Given the description of an element on the screen output the (x, y) to click on. 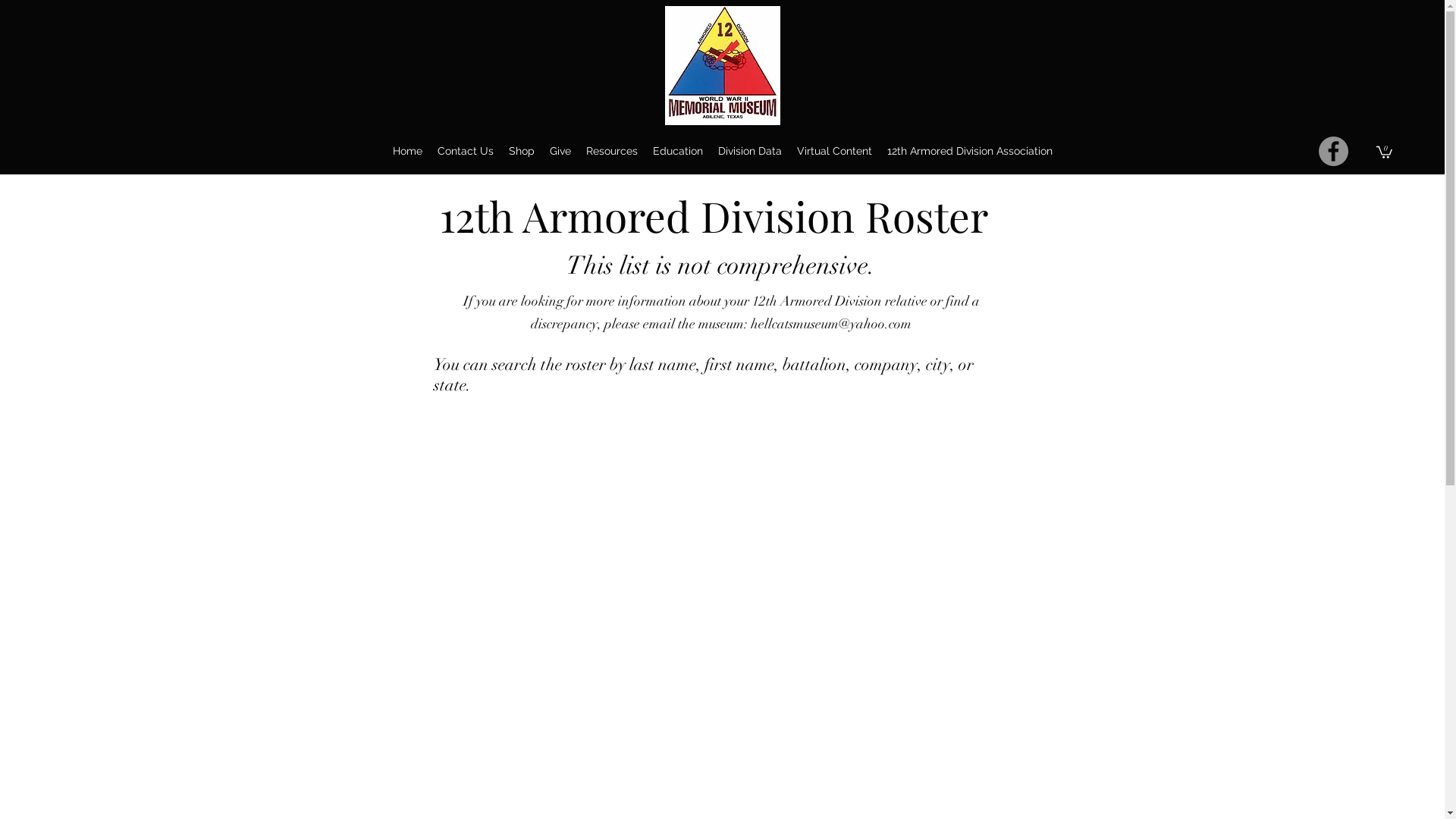
Shop Element type: text (520, 150)
0 Element type: text (1384, 151)
Virtual Content Element type: text (833, 150)
Education Element type: text (676, 150)
hellcatsmuseum@yahoo.com Element type: text (830, 323)
12th Armored Division Association Element type: text (969, 150)
Give Element type: text (559, 150)
Home Element type: text (407, 150)
Contact Us Element type: text (464, 150)
